Given the description of an element on the screen output the (x, y) to click on. 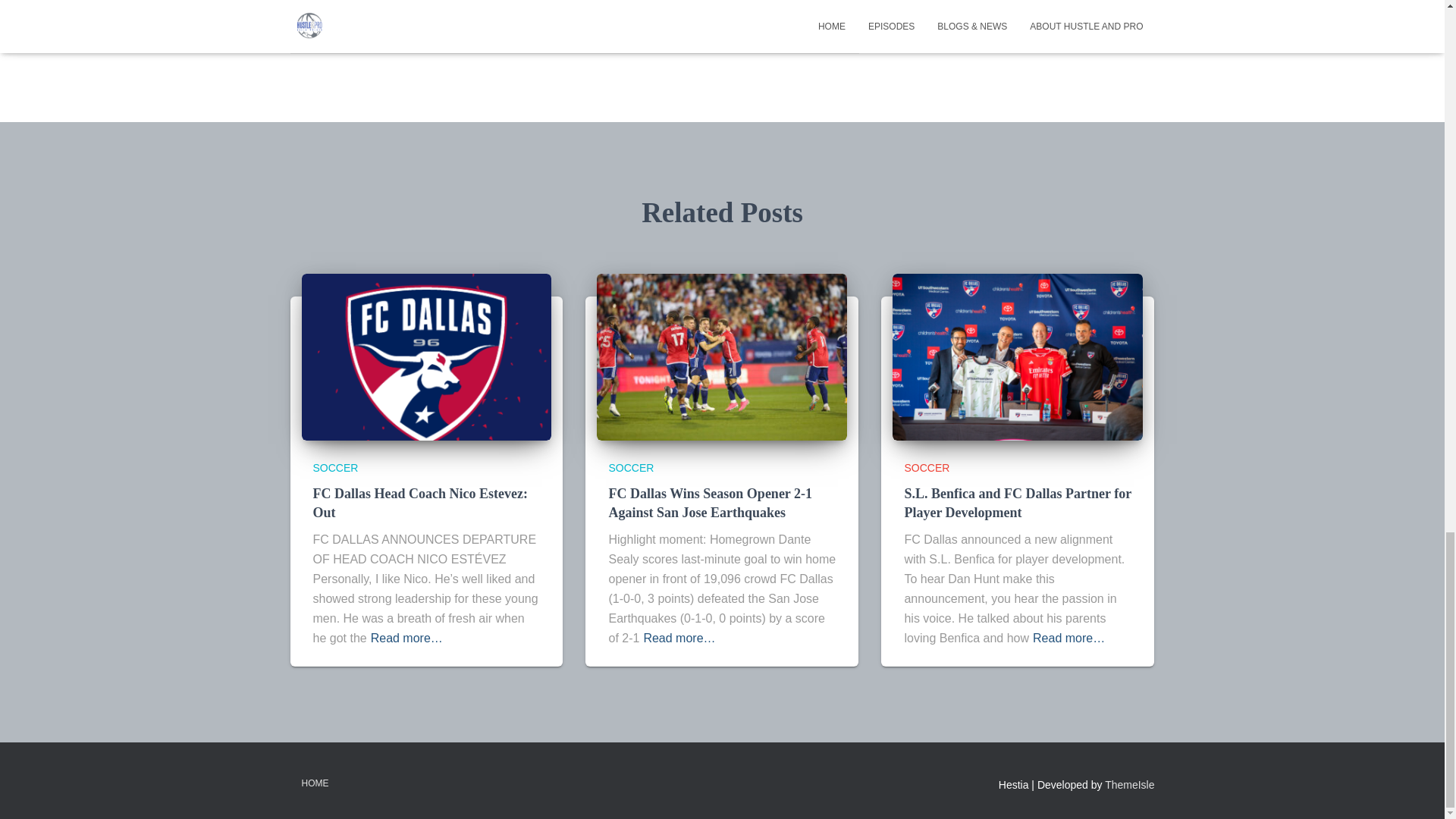
FC Dallas Head Coach Nico Estevez: Out (426, 356)
FC Dallas Head Coach Nico Estevez: Out (420, 503)
View all posts in Soccer (335, 467)
ThemeIsle (1129, 784)
SOCCER (630, 467)
SOCCER (926, 467)
View all posts in Soccer (926, 467)
View all posts in Soccer (630, 467)
SOCCER (377, 3)
FC Dallas Head Coach Nico Estevez: Out (420, 503)
S.L. Benfica and FC Dallas Partner for Player Development (1017, 503)
S.L. Benfica and FC Dallas Partner for Player Development (1017, 503)
